Given the description of an element on the screen output the (x, y) to click on. 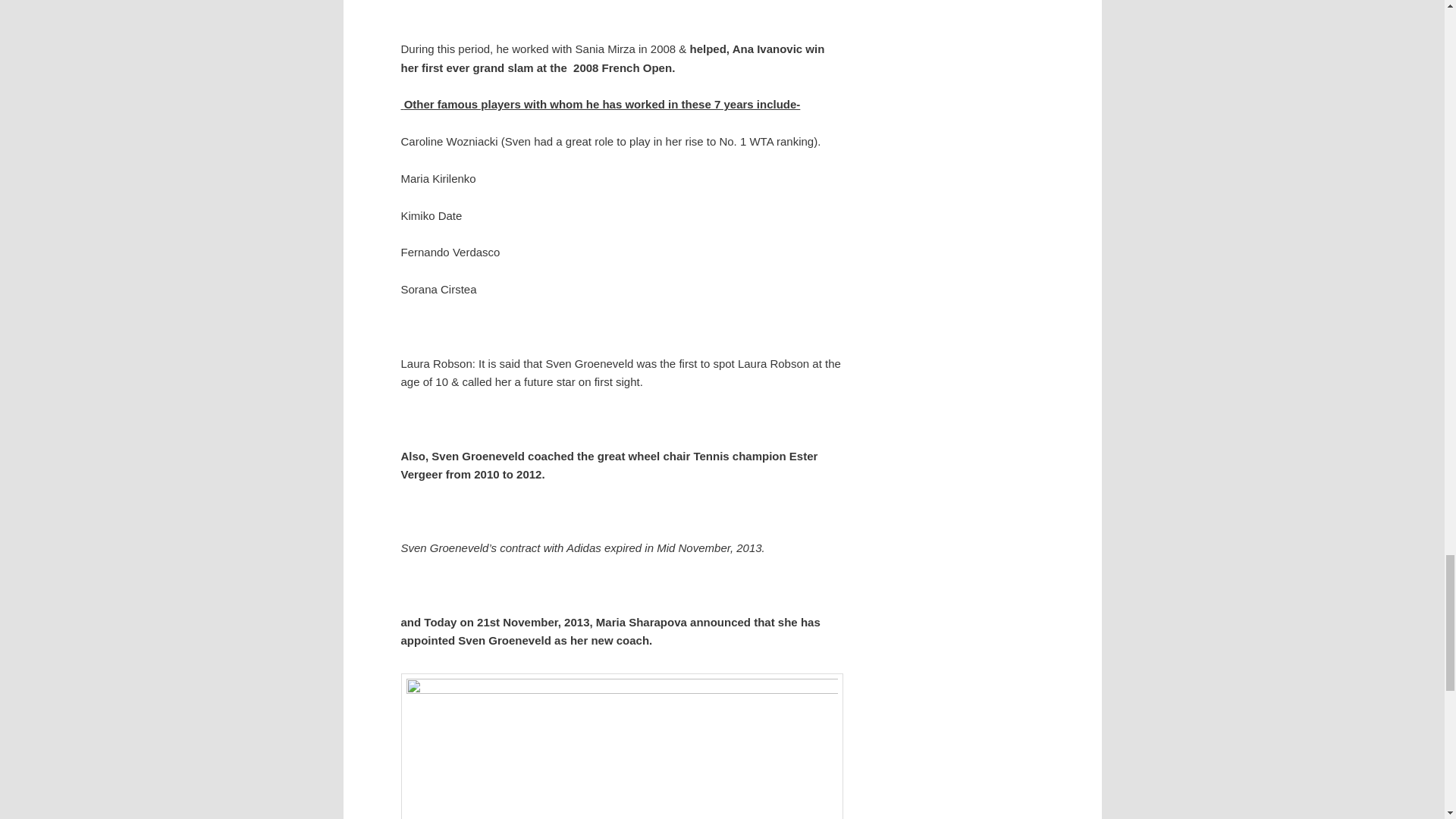
Maria Sharapova and Sven Groeneveld (621, 746)
